Given the description of an element on the screen output the (x, y) to click on. 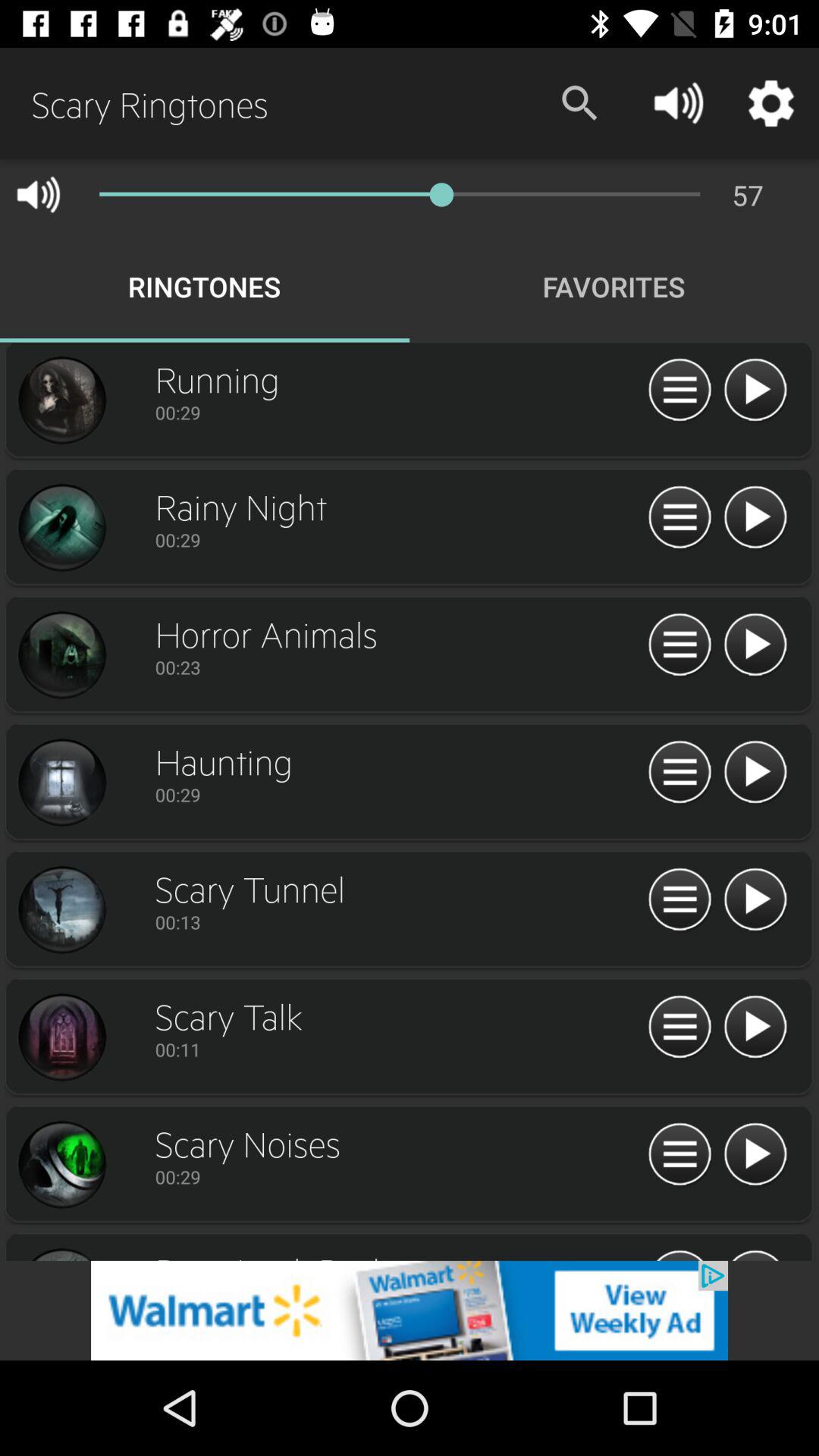
go to play (679, 1027)
